Given the description of an element on the screen output the (x, y) to click on. 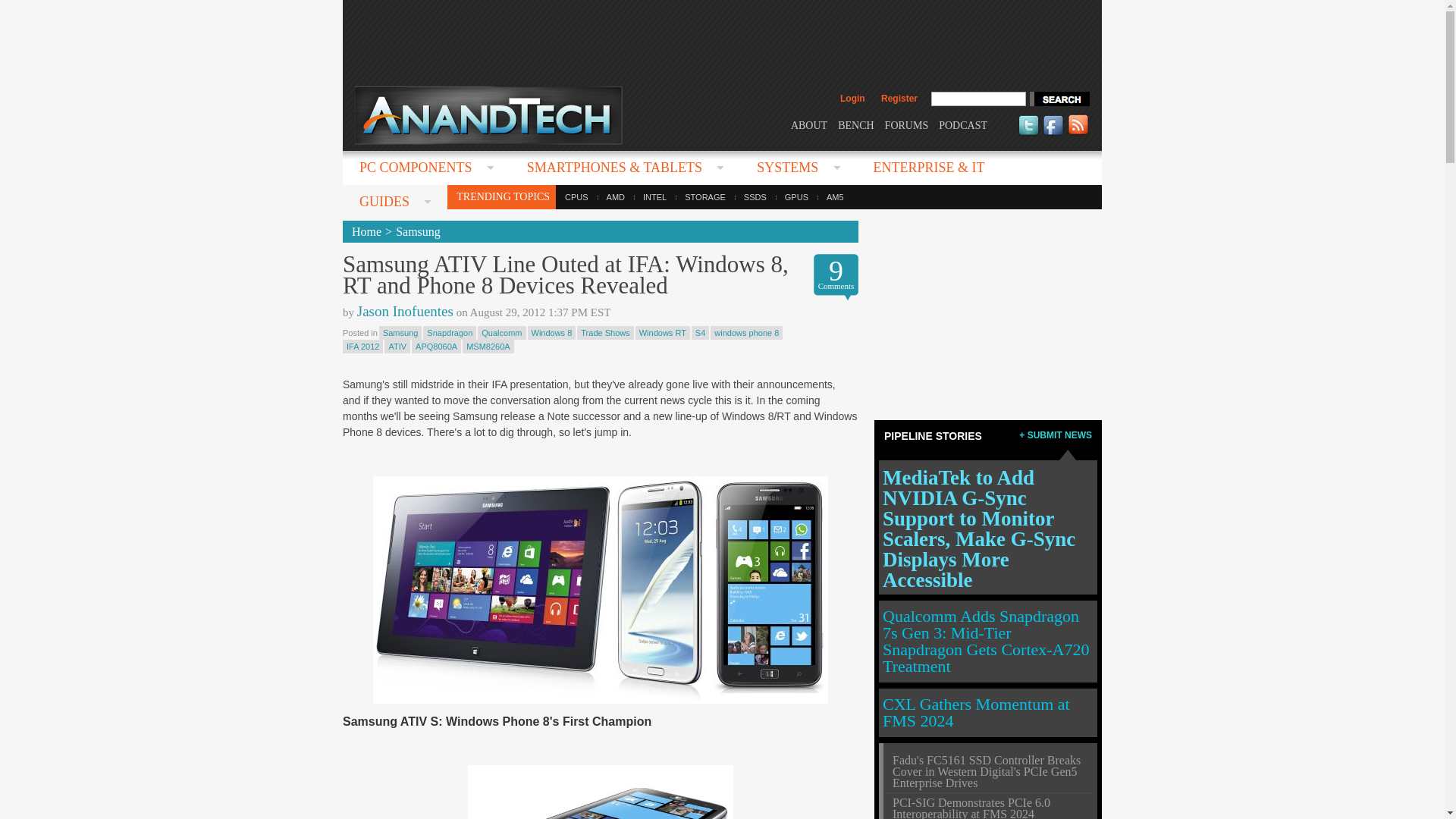
ABOUT (808, 125)
search (1059, 98)
FORUMS (906, 125)
search (1059, 98)
search (1059, 98)
Register (898, 98)
BENCH (855, 125)
PODCAST (963, 125)
Login (852, 98)
